Given the description of an element on the screen output the (x, y) to click on. 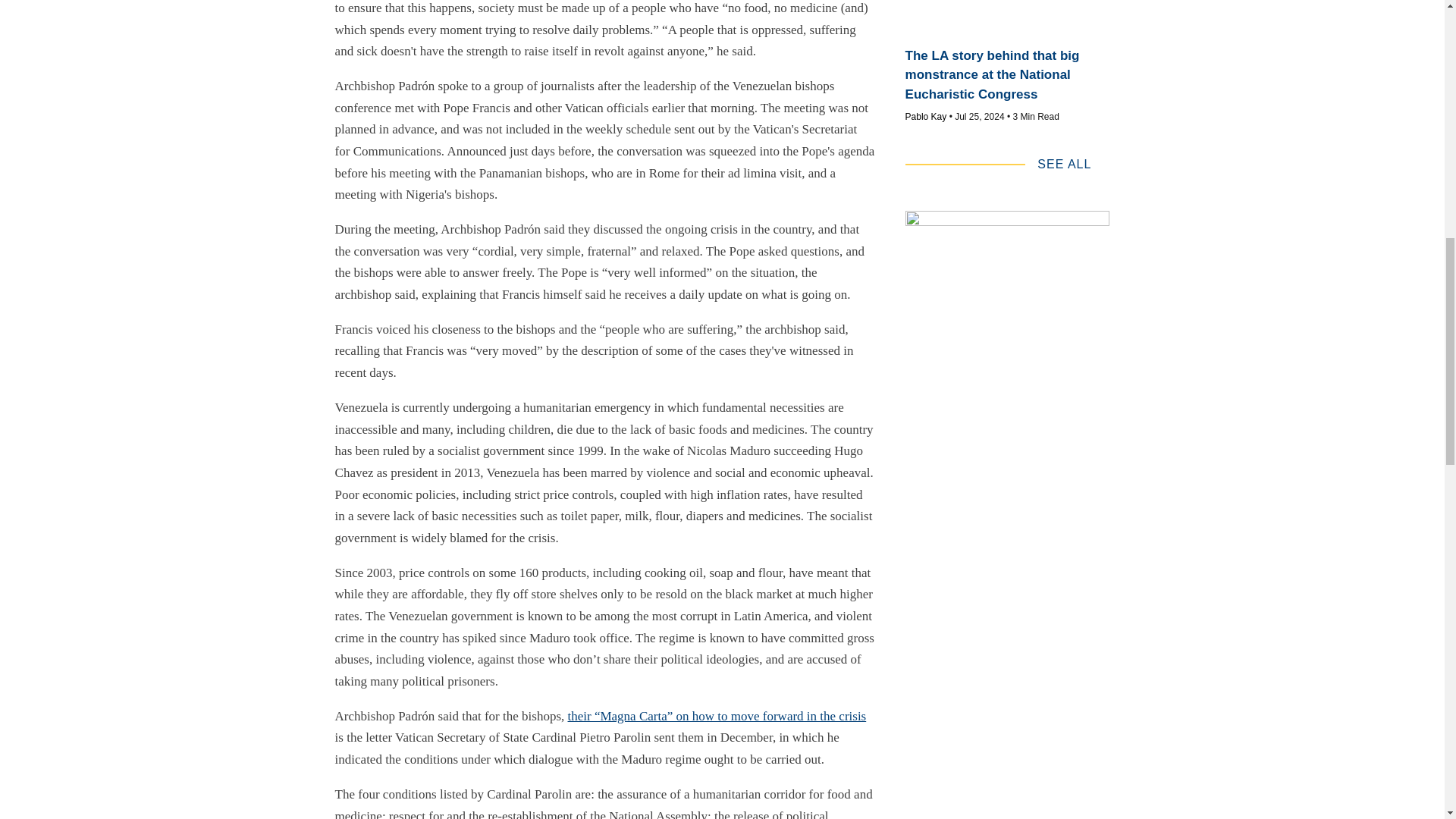
Posts by Pablo Kay (926, 116)
